Given the description of an element on the screen output the (x, y) to click on. 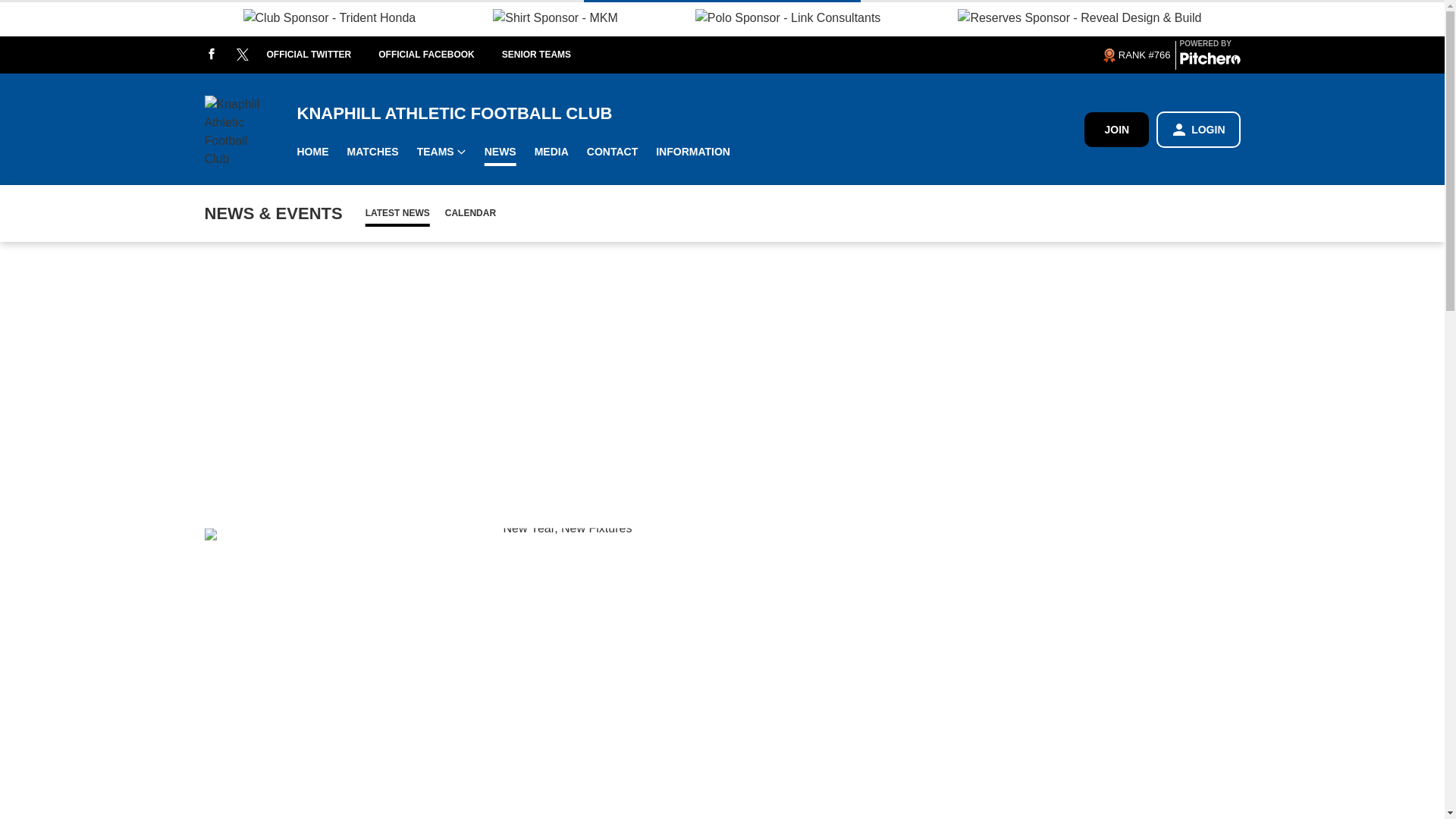
OFFICIAL TWITTER (322, 54)
SENIOR TEAMS (550, 54)
JOIN (1116, 129)
Pitchero Rankings (1135, 54)
MEDIA (551, 152)
LATEST NEWS (398, 212)
OFFICIAL FACEBOOK (439, 54)
Pitchero (1209, 61)
INFORMATION (692, 152)
HOME (312, 152)
CONTACT (612, 152)
LOGIN (1198, 129)
MATCHES (372, 152)
NEWS (500, 152)
JOIN (1116, 128)
